Given the description of an element on the screen output the (x, y) to click on. 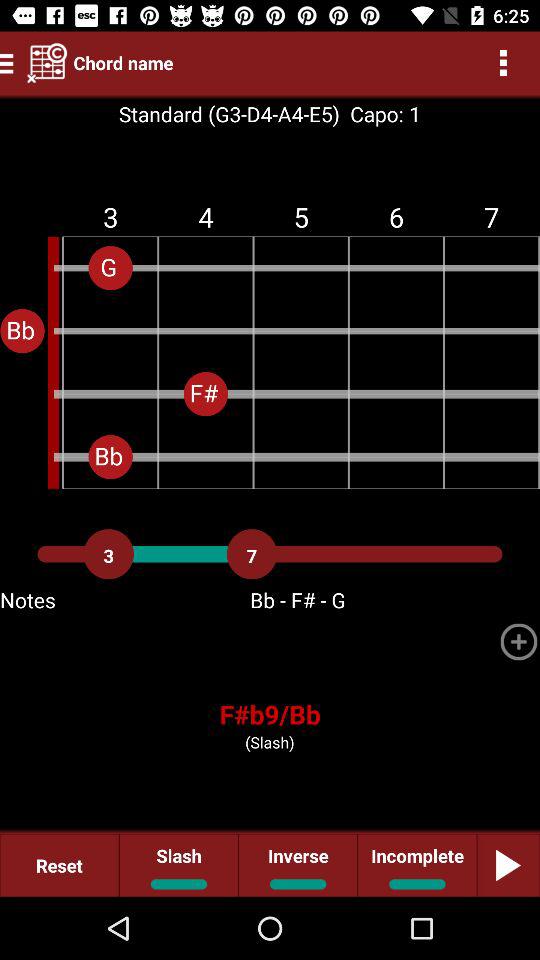
open the icon to the right of notes icon (518, 642)
